Given the description of an element on the screen output the (x, y) to click on. 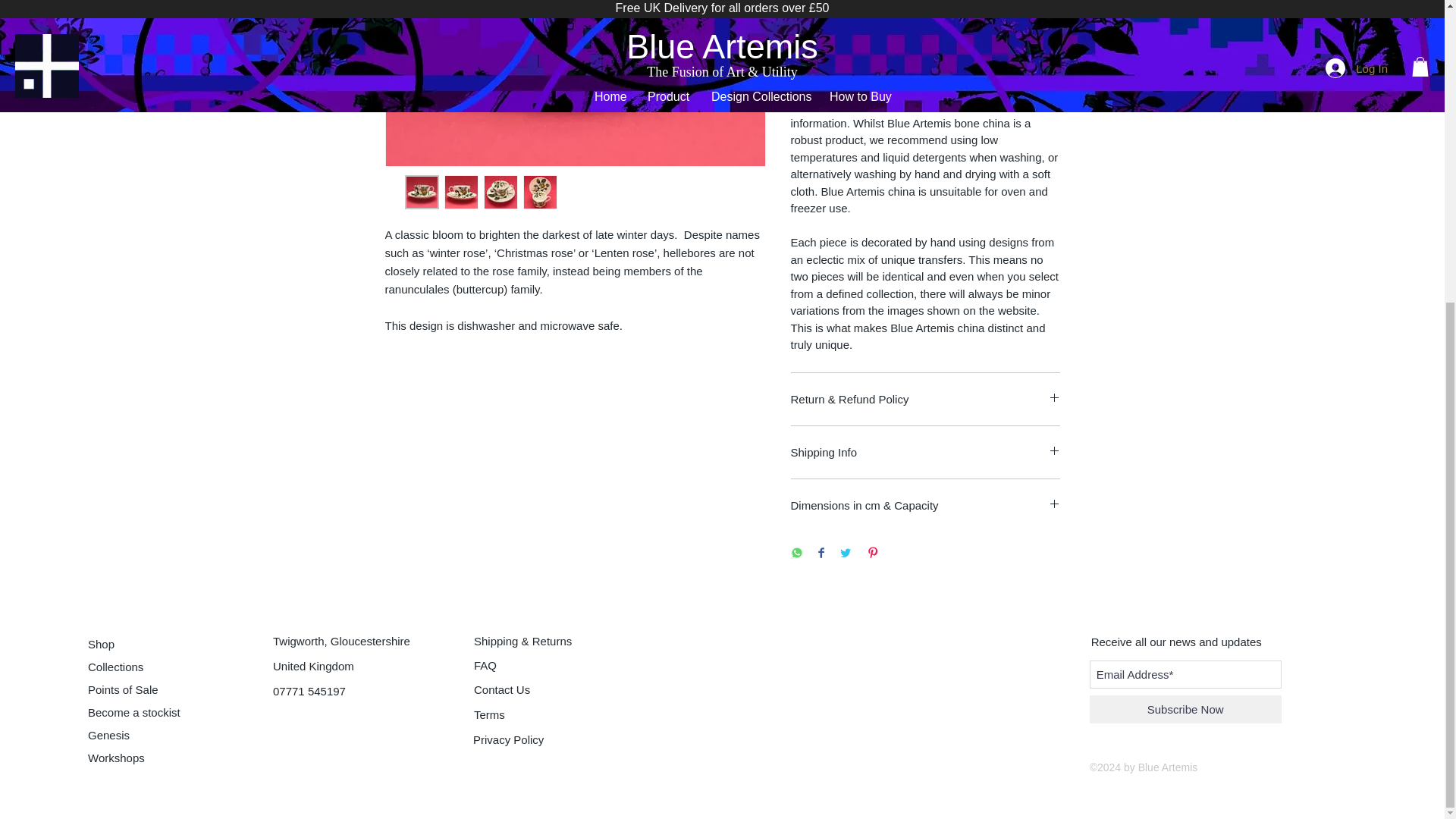
Shipping Info (924, 452)
Collections (133, 666)
Product Info (924, 42)
Points of Sale (133, 689)
